Given the description of an element on the screen output the (x, y) to click on. 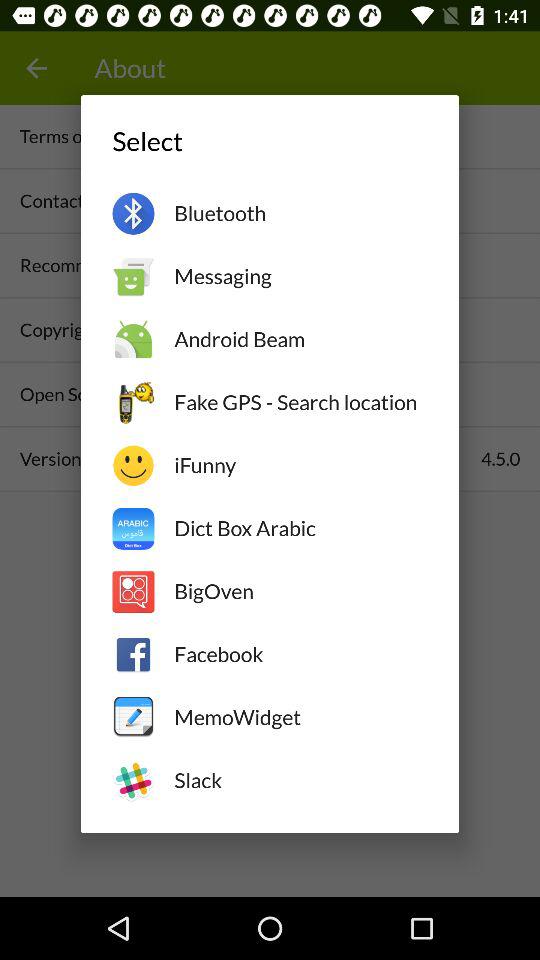
swipe until the memowidget item (300, 717)
